Given the description of an element on the screen output the (x, y) to click on. 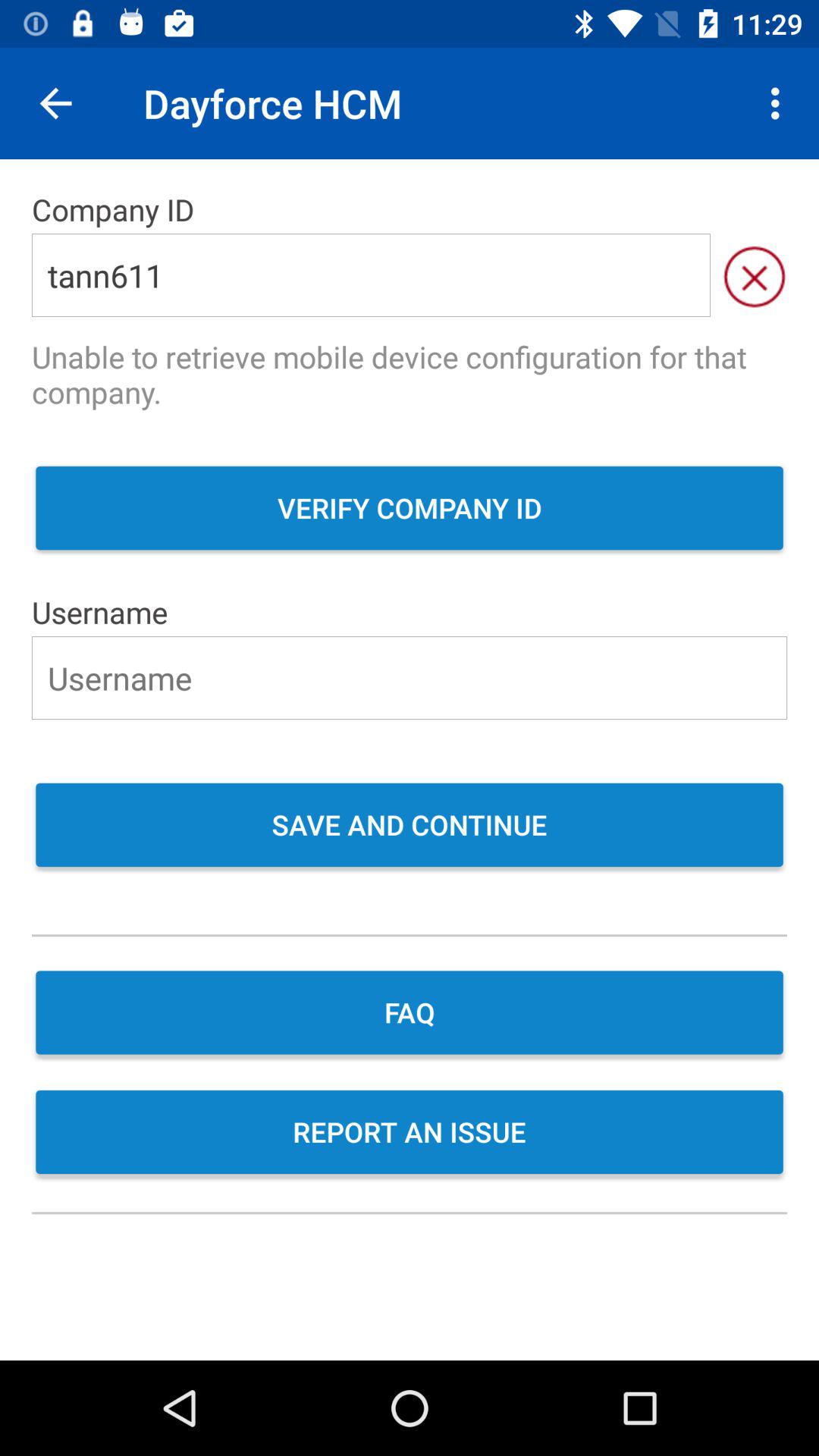
click item above the report an issue (409, 1014)
